Given the description of an element on the screen output the (x, y) to click on. 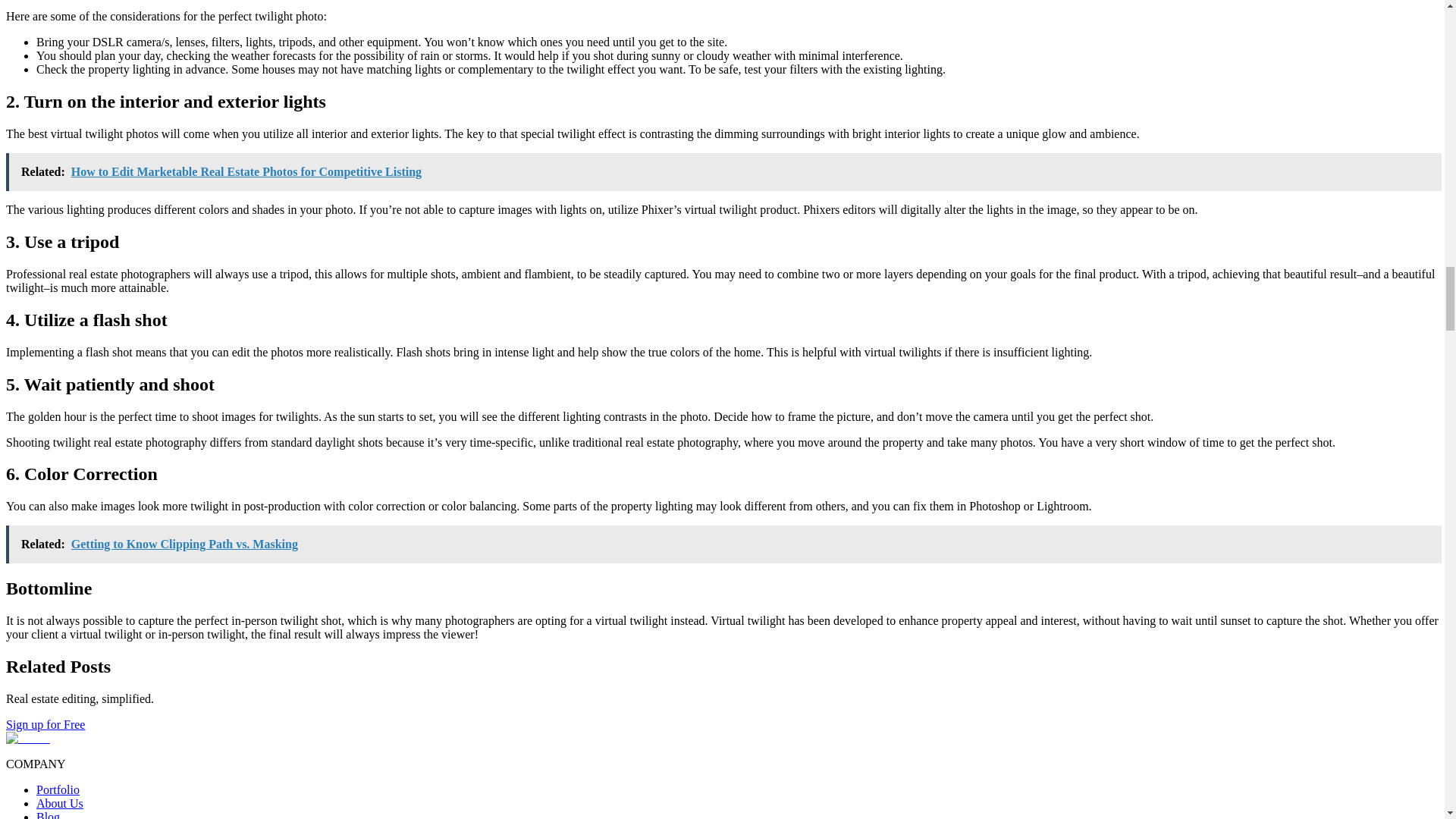
About Us (59, 802)
Portfolio (58, 789)
Sign up for Free (44, 724)
Blog (47, 814)
